Given the description of an element on the screen output the (x, y) to click on. 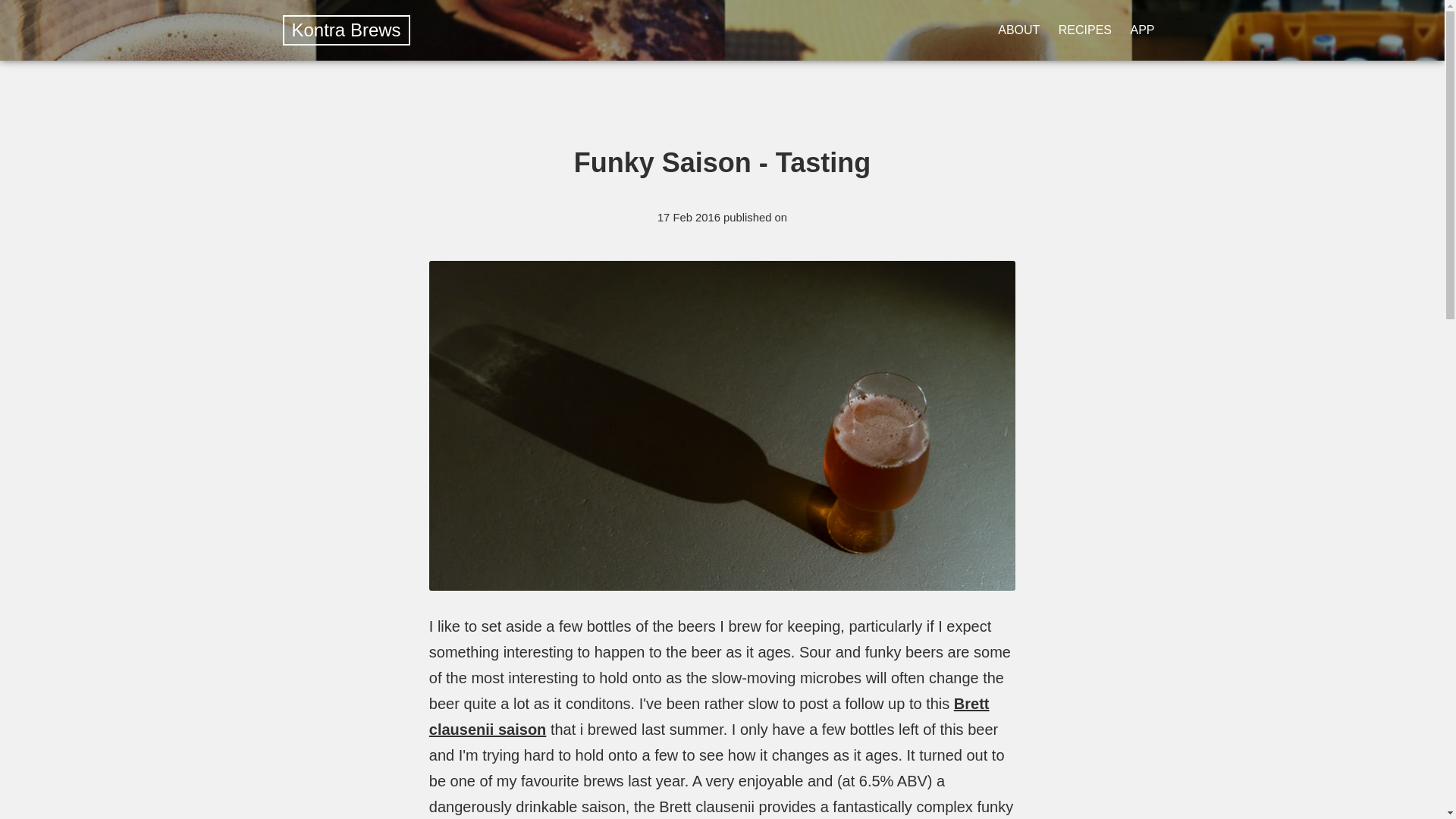
RECIPES (1084, 29)
Kontra Brews (345, 29)
Brett clausenii saison (709, 716)
APP (1141, 29)
ABOUT (1018, 29)
